Given the description of an element on the screen output the (x, y) to click on. 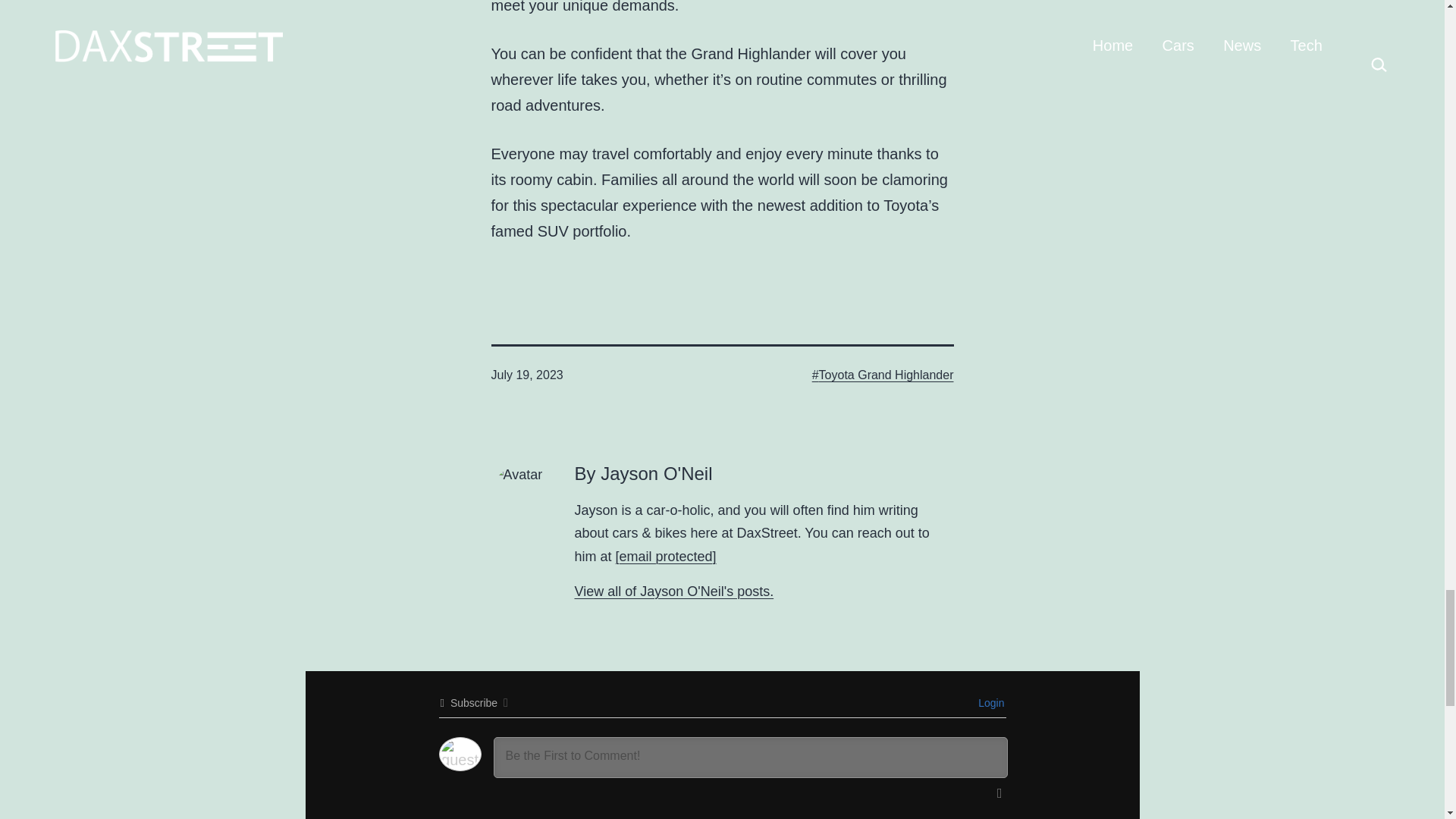
Login (989, 702)
View all of Jayson O'Neil's posts. (674, 590)
Toyota Grand Highlander (882, 374)
